Given the description of an element on the screen output the (x, y) to click on. 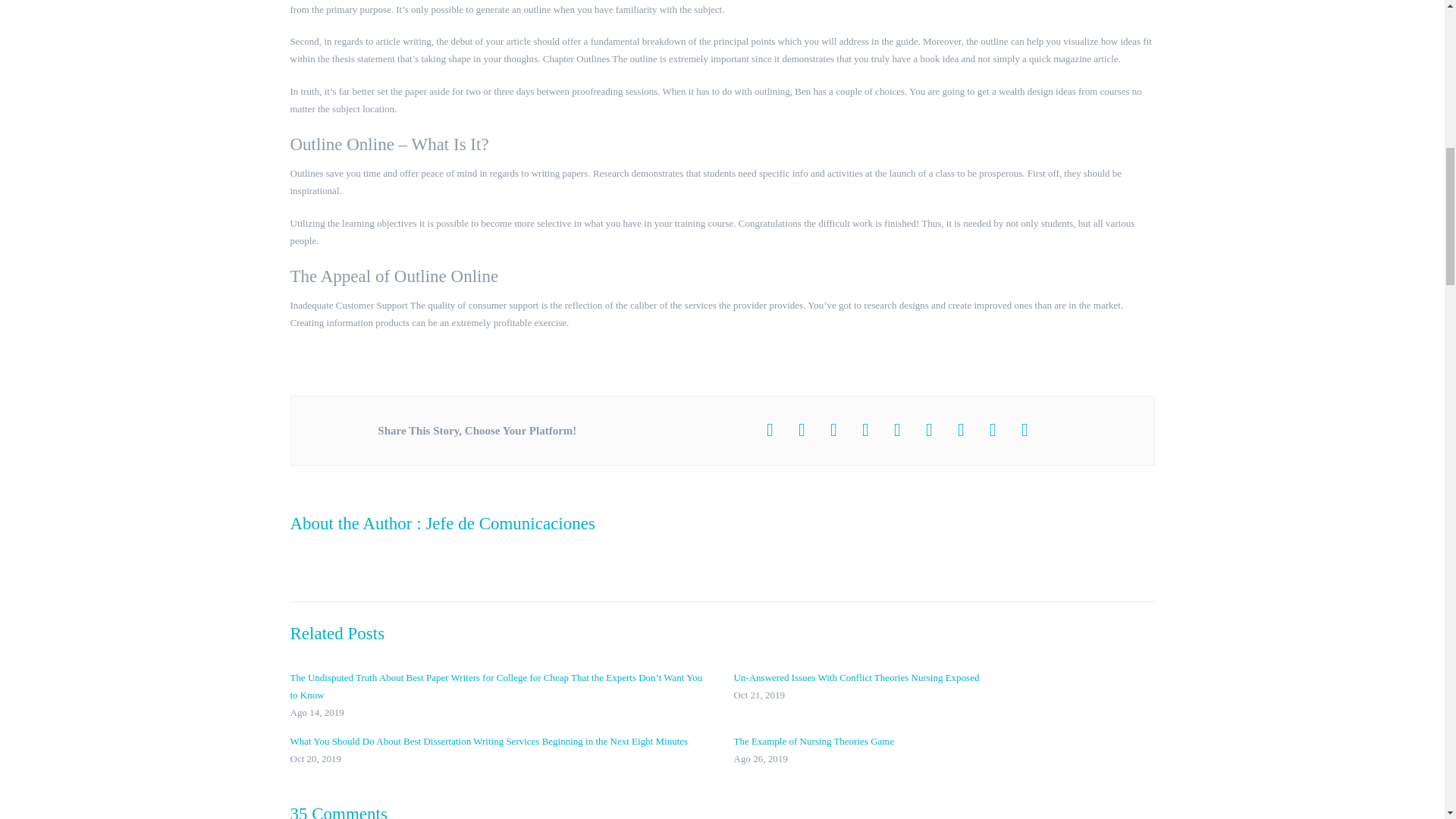
The Example of Nursing Theories Game (943, 749)
Un-Answered Issues With Conflict Theories Nursing Exposed (943, 686)
